Given the description of an element on the screen output the (x, y) to click on. 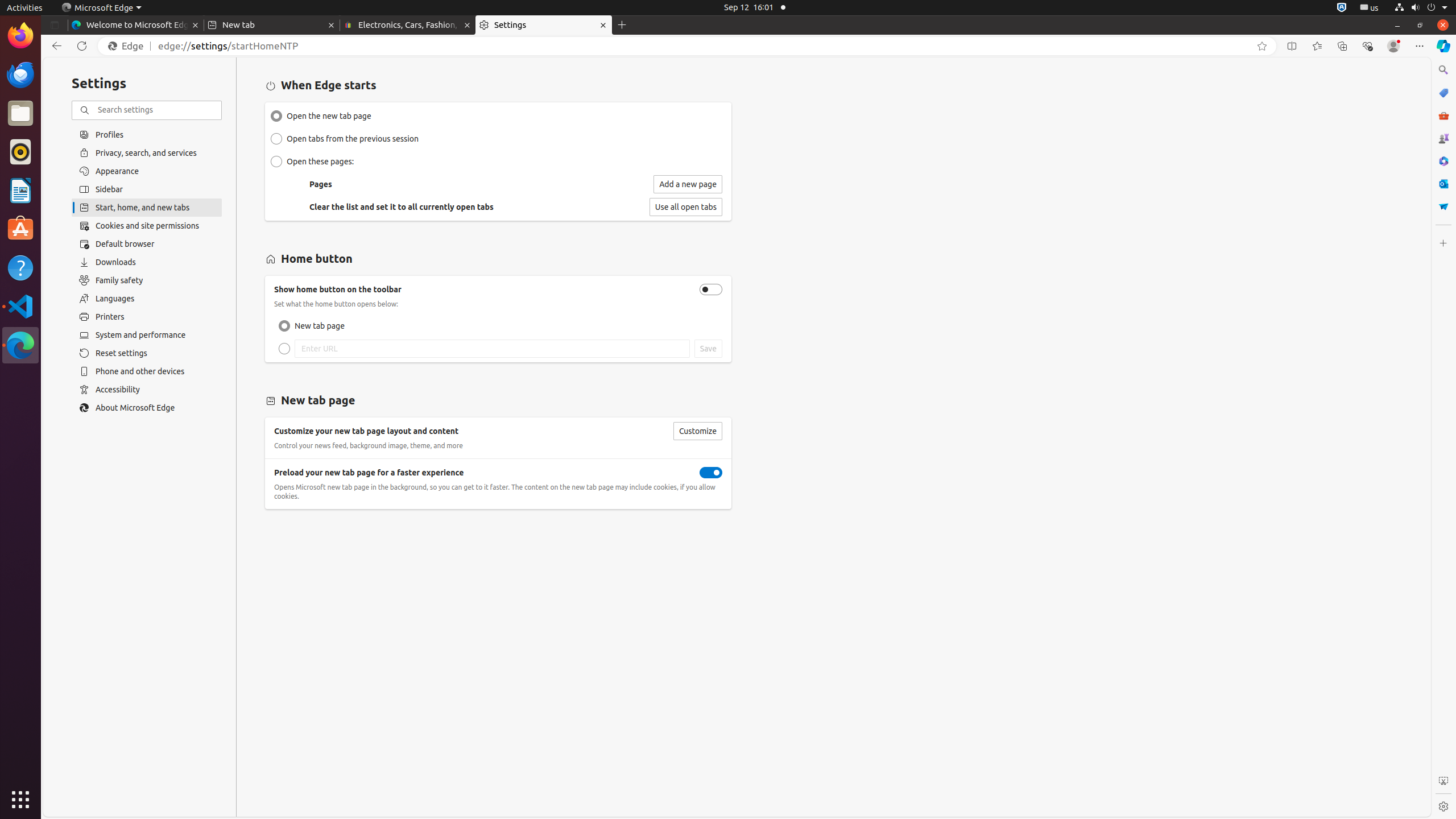
Microsoft Edge Element type: menu (101, 7)
Default browser Element type: tree-item (146, 243)
Edge Element type: push-button (128, 46)
Show Applications Element type: toggle-button (20, 799)
Close tab Element type: push-button (195, 25)
